Given the description of an element on the screen output the (x, y) to click on. 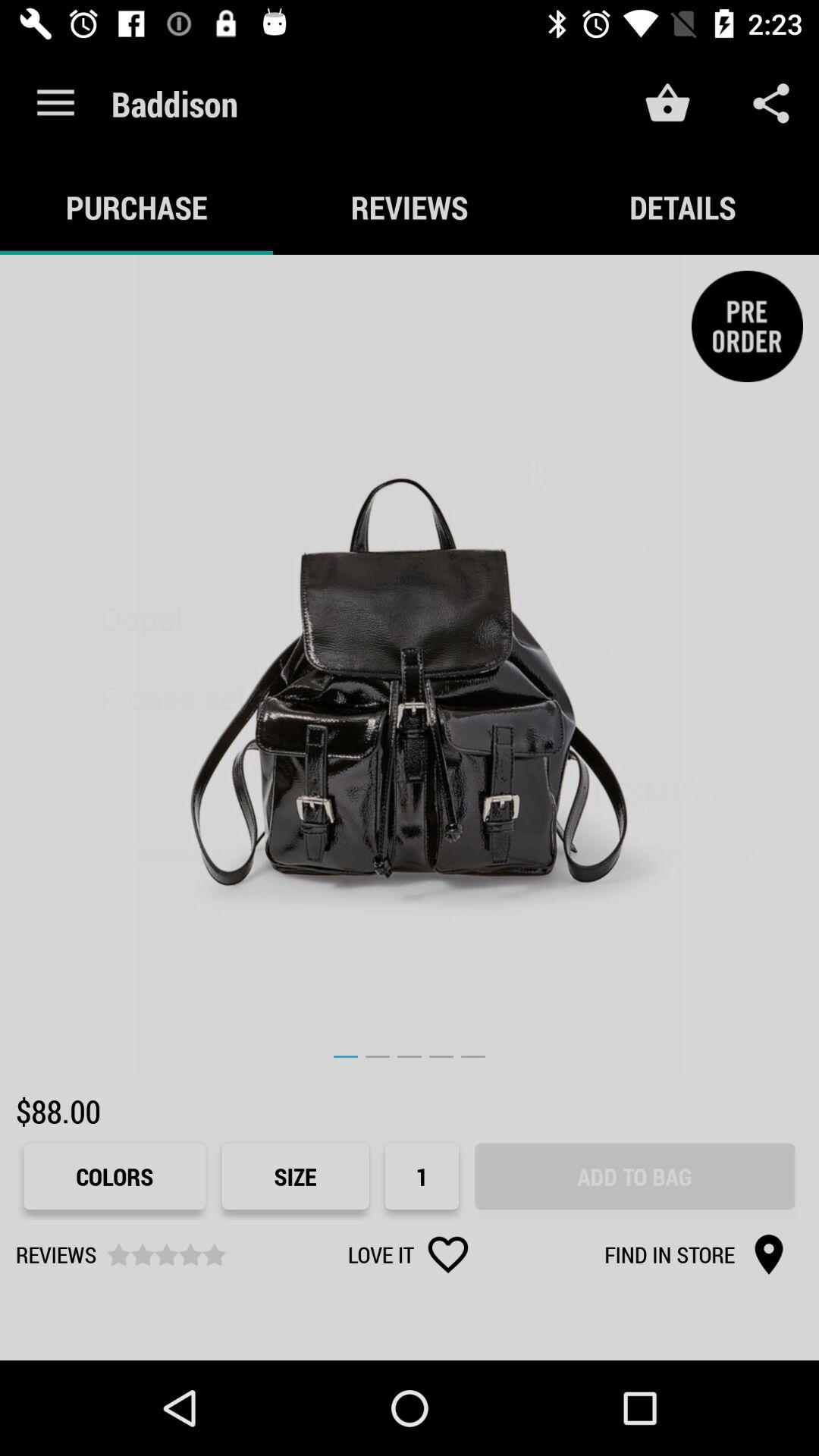
select item picture (409, 663)
